Given the description of an element on the screen output the (x, y) to click on. 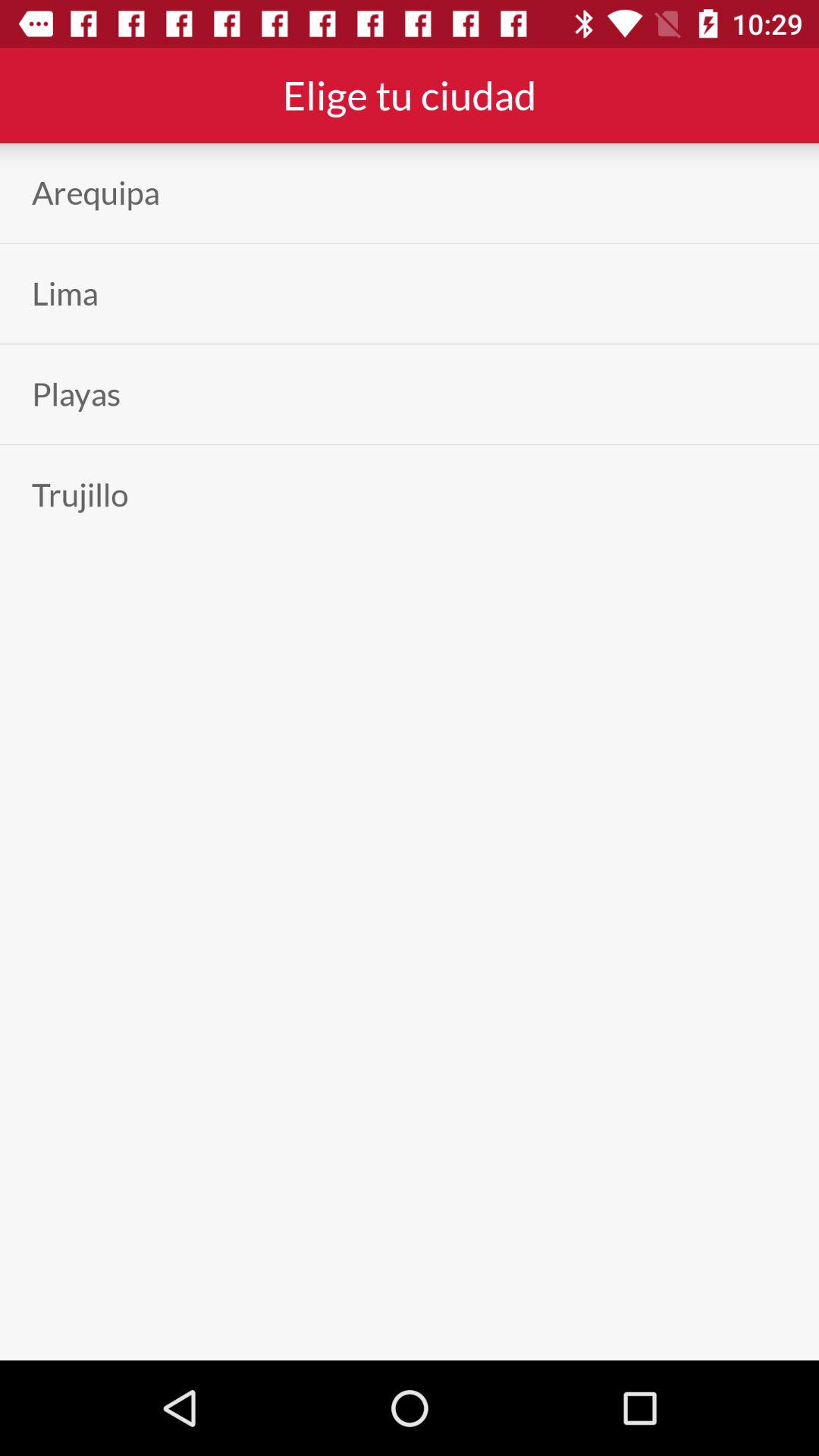
turn on app on the left (79, 495)
